Given the description of an element on the screen output the (x, y) to click on. 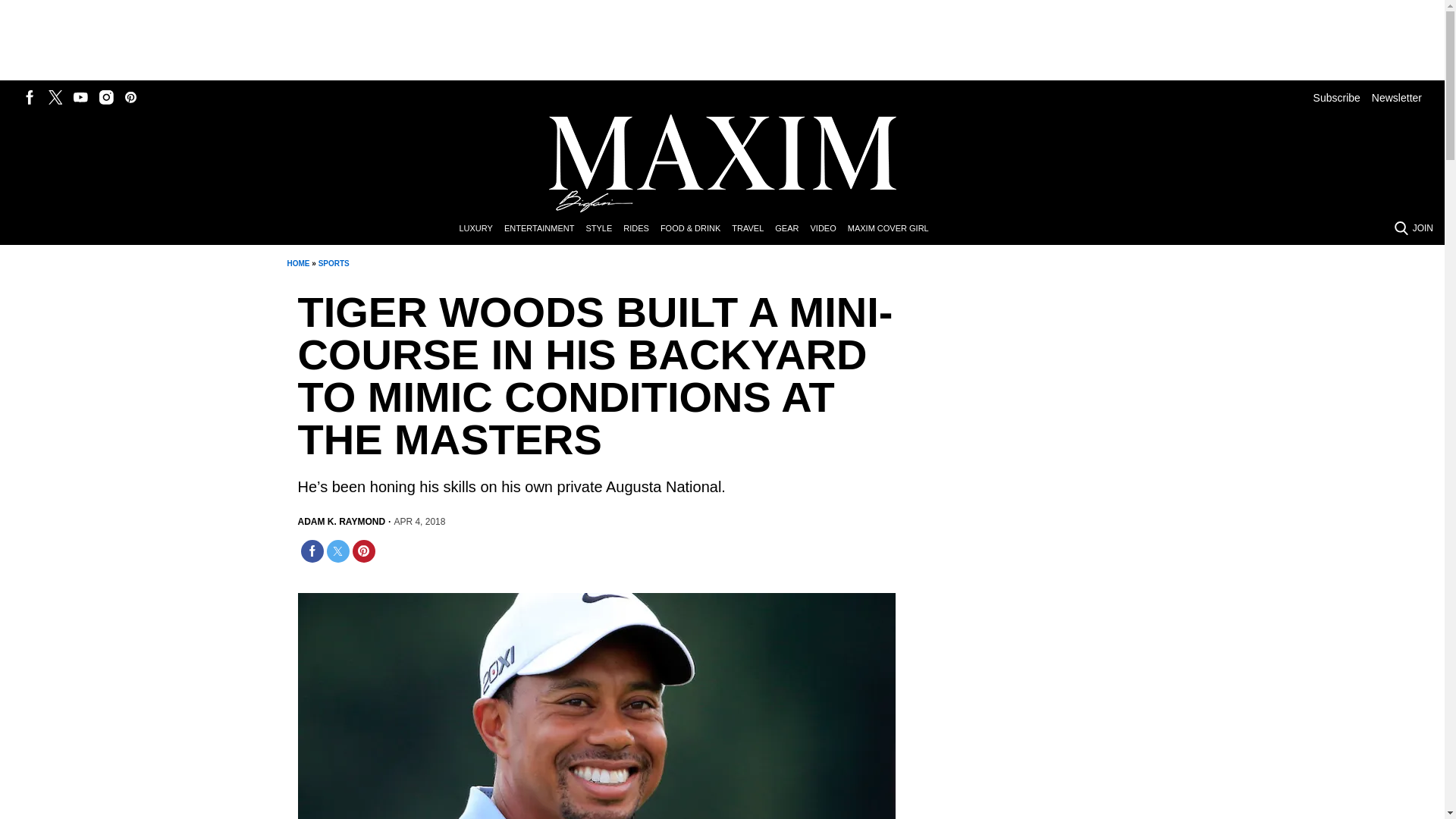
STYLE (604, 228)
MAXIM COVER GIRL (893, 228)
Newsletter (1396, 97)
Share on Twitter (337, 550)
Follow us on Facebook (30, 97)
RIDES (642, 228)
Subscribe (1336, 97)
SPORTS (333, 263)
Posts by Adam K. Raymond (341, 521)
LUXURY (480, 228)
ENTERTAINMENT (544, 228)
Follow us on Instagram (106, 97)
Follow us on Youtube (80, 97)
TRAVEL (753, 228)
GEAR (791, 228)
